Given the description of an element on the screen output the (x, y) to click on. 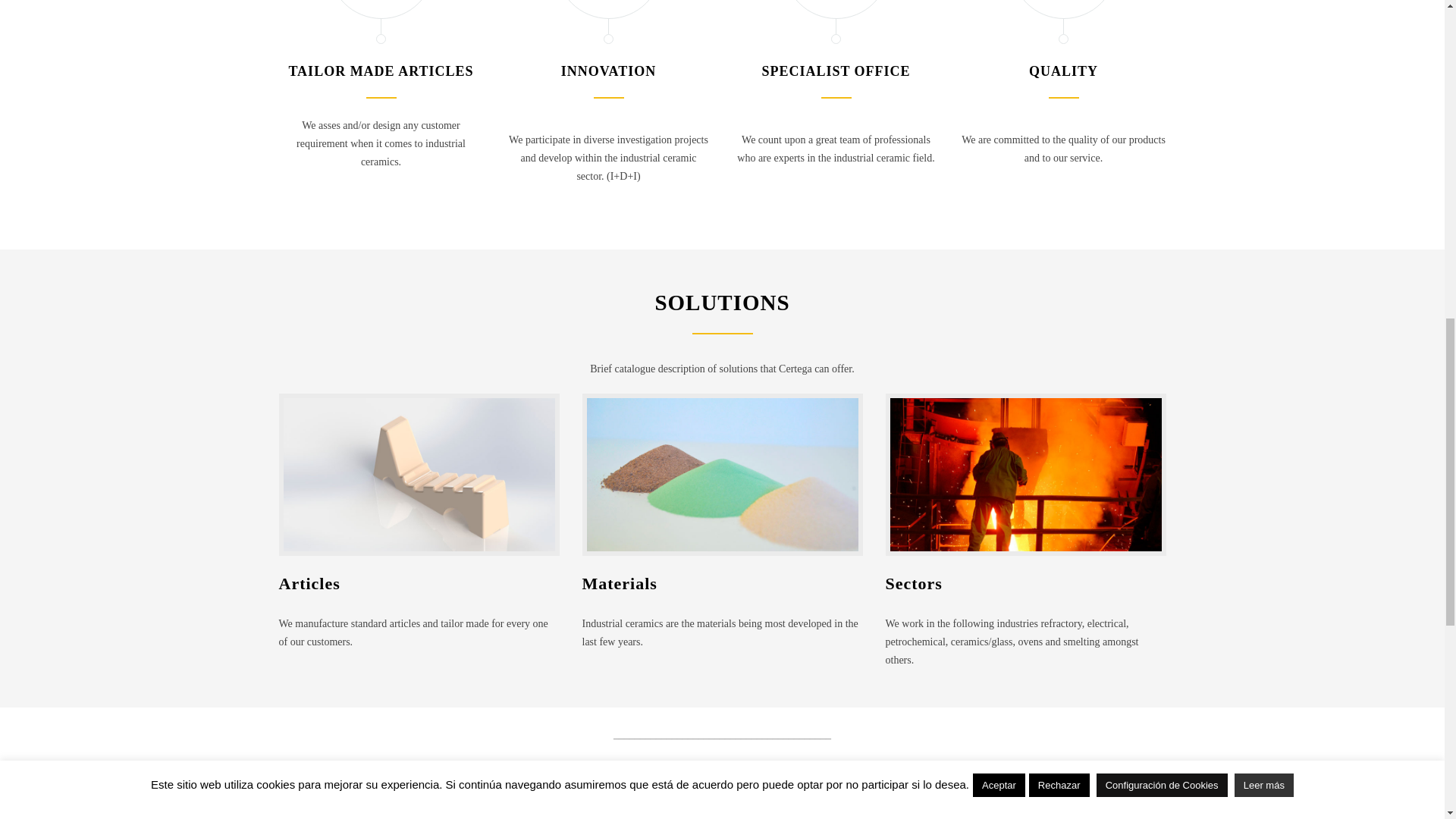
TAILOR MADE ARTICLES (380, 70)
QUALITY (1063, 70)
SPECIALIST OFFICE (835, 70)
INNOVATION (608, 70)
